Given the description of an element on the screen output the (x, y) to click on. 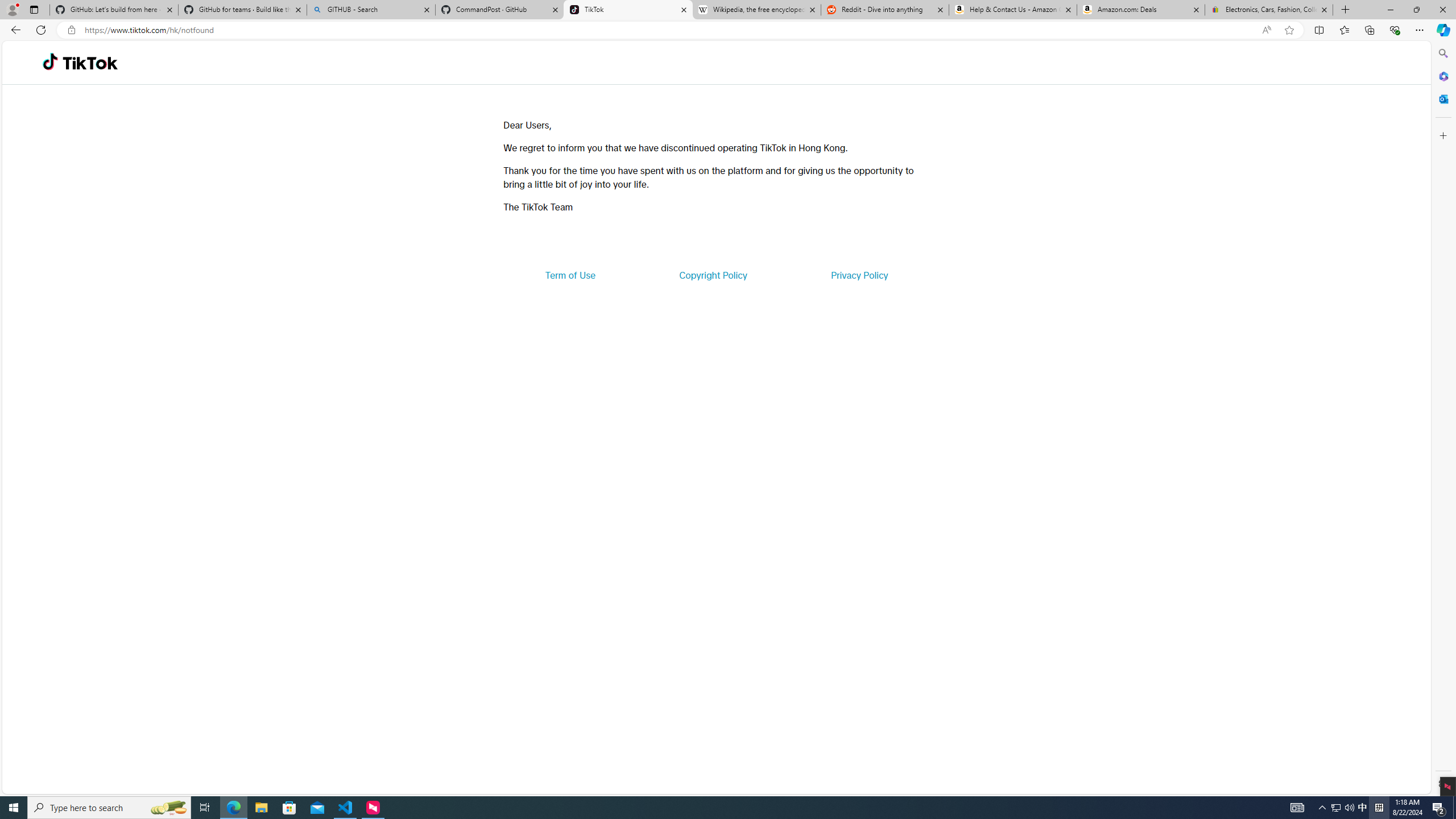
Side bar (1443, 418)
TikTok (628, 9)
Electronics, Cars, Fashion, Collectibles & More | eBay (1268, 9)
Privacy Policy (858, 274)
GITHUB - Search (370, 9)
